Given the description of an element on the screen output the (x, y) to click on. 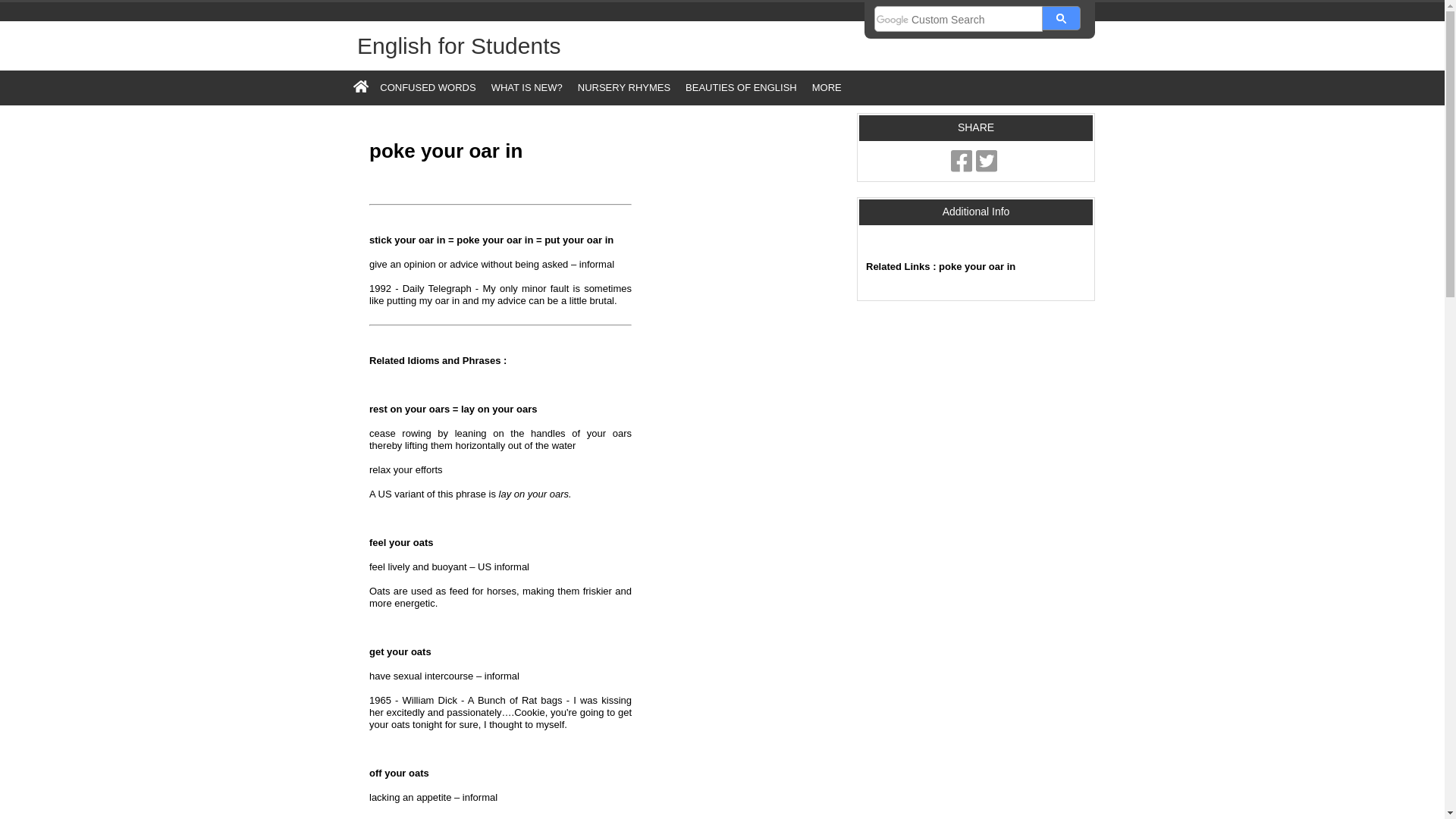
WHAT IS NEW? (526, 87)
NURSERY RHYMES (624, 87)
search (1061, 17)
search (958, 19)
English for Students (458, 45)
BEAUTIES OF ENGLISH (741, 87)
CONFUSED WORDS (427, 87)
MORE   (829, 87)
